Given the description of an element on the screen output the (x, y) to click on. 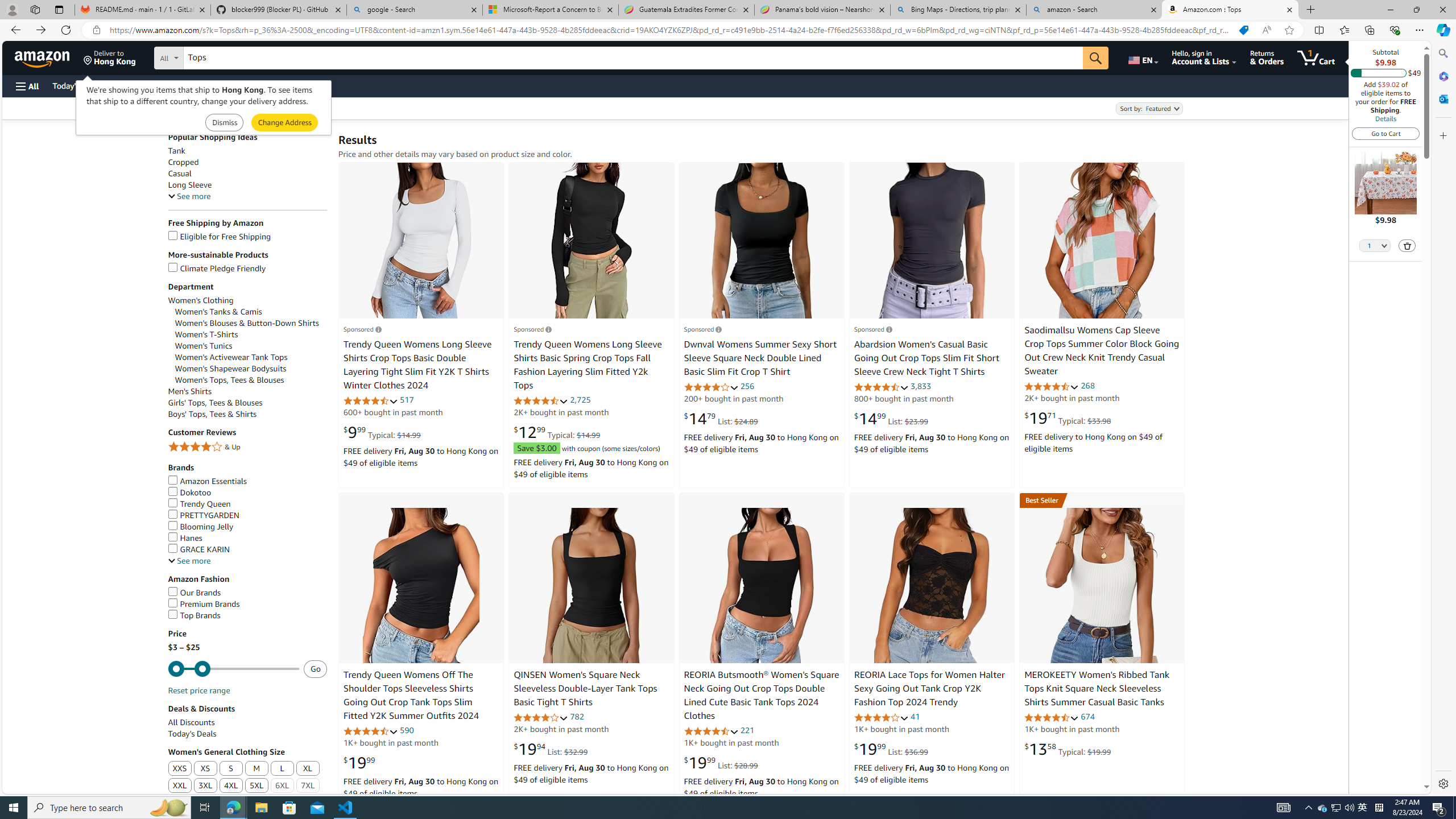
Women's T-Shirts (206, 334)
PRETTYGARDEN (202, 514)
$12.99 Typical: $14.99 (556, 431)
5XL (256, 786)
Premium Brands (247, 604)
Women's Tunics (250, 345)
Details (1385, 118)
amazon - Search (1094, 9)
Skip to main search results (50, 788)
